Given the description of an element on the screen output the (x, y) to click on. 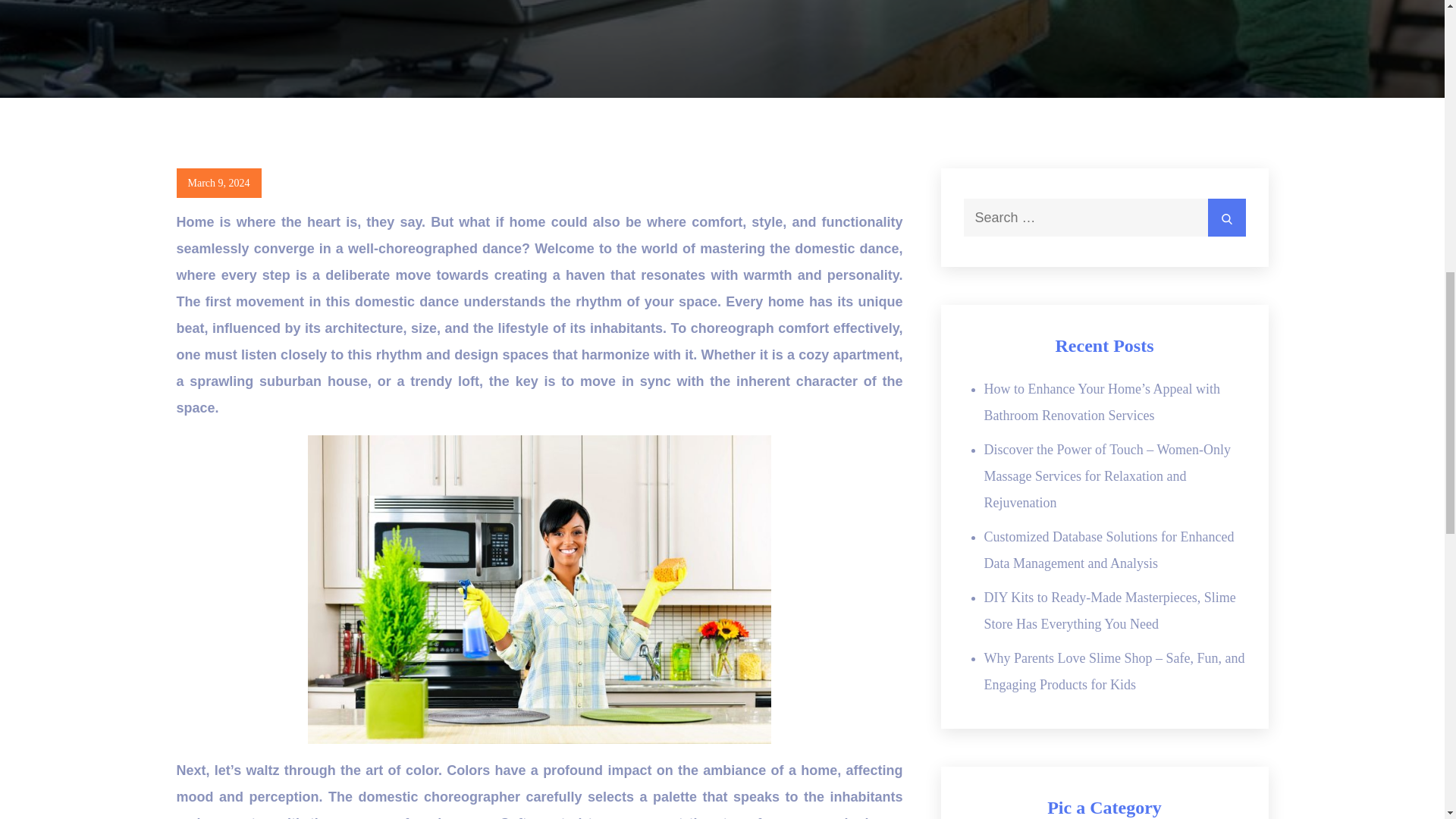
Search (1225, 217)
March 9, 2024 (218, 183)
